Given the description of an element on the screen output the (x, y) to click on. 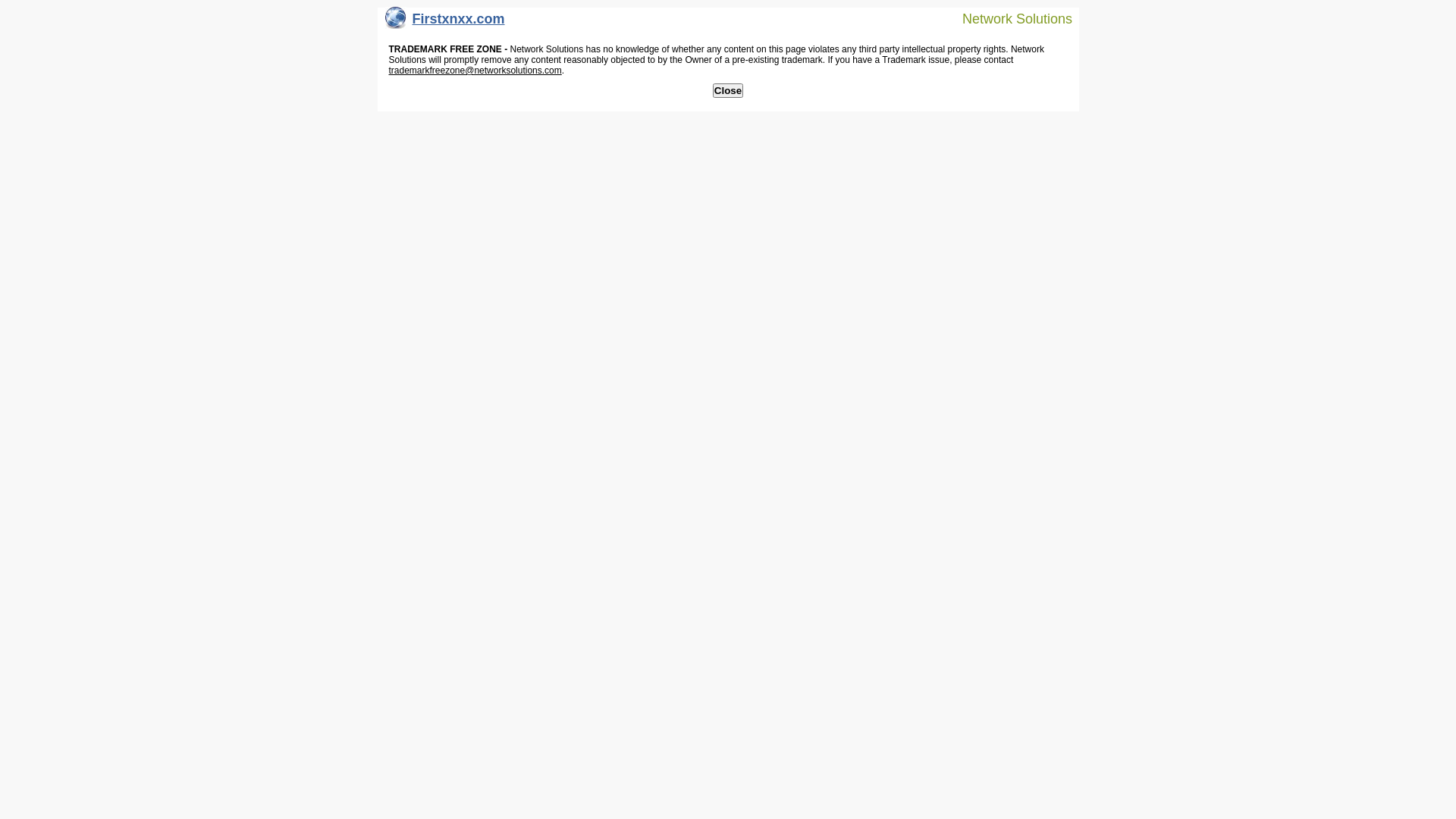
trademarkfreezone@networksolutions.com Element type: text (474, 70)
Close Element type: text (727, 90)
Firstxnxx.com Element type: text (445, 21)
Network Solutions Element type: text (1007, 17)
